Given the description of an element on the screen output the (x, y) to click on. 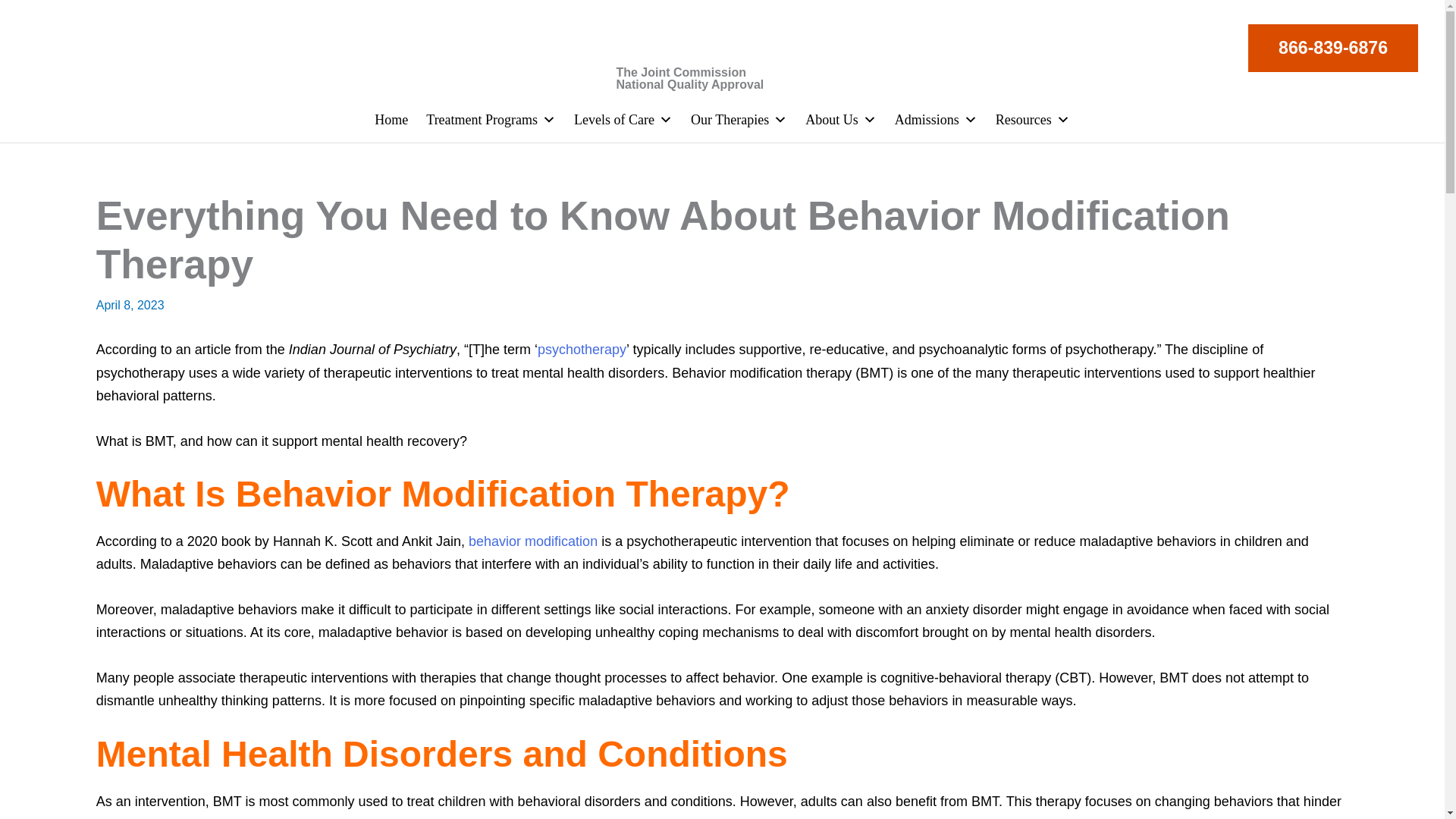
Treatment Programs (490, 119)
866-839-6876 (1332, 48)
Home (390, 119)
